Given the description of an element on the screen output the (x, y) to click on. 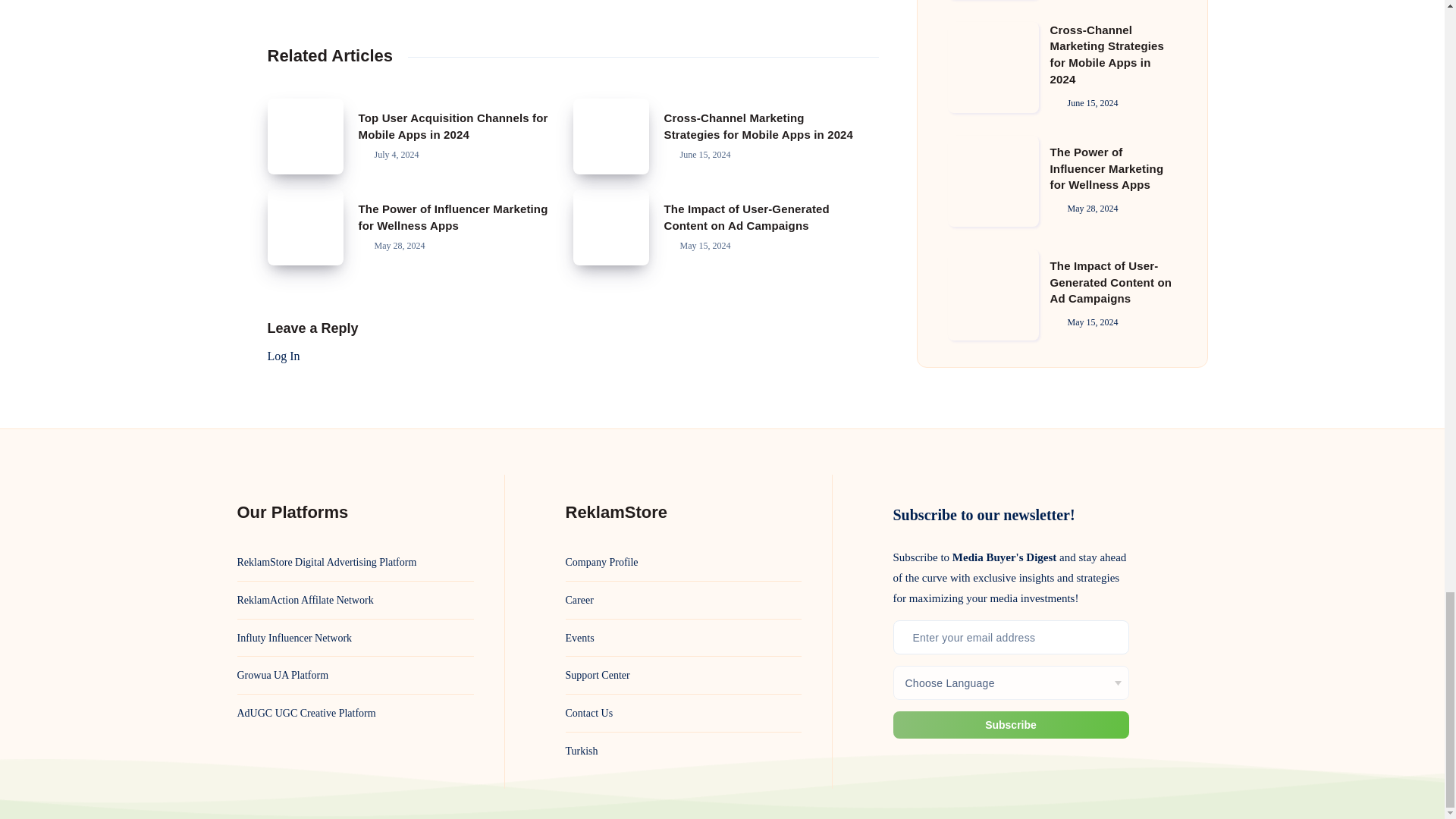
The Power of Influencer Marketing for Wellness Apps (452, 216)
Log In (282, 355)
Growua UA Platform (282, 674)
The Impact of User-Generated Content on Ad Campaigns (611, 227)
The Impact of User-Generated Content on Ad Campaigns (746, 216)
Influty Influencer Network (293, 637)
ReklamStore Digital Advertising Platform (325, 561)
Top User Acquisition Channels for Mobile Apps in 2024 (452, 125)
The Power of Influencer Marketing for Wellness Apps (304, 227)
Cross-Channel Marketing Strategies for Mobile Apps in 2024 (611, 136)
